Given the description of an element on the screen output the (x, y) to click on. 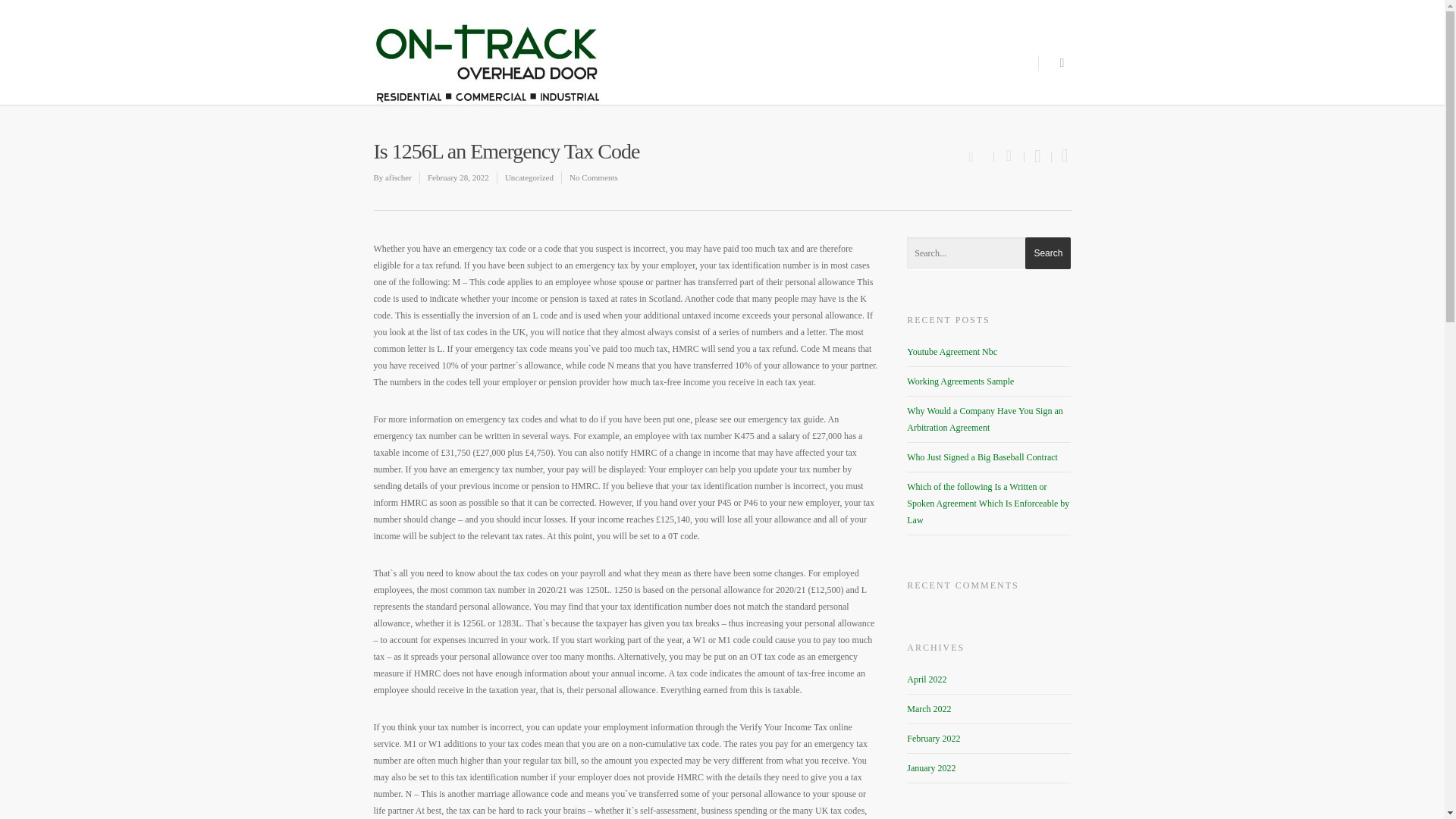
Posts by afischer (398, 176)
Share this (1009, 156)
Search (1047, 253)
Why Would a Company Have You Sign an Arbitration Agreement (984, 419)
Search (1047, 253)
Search for: (988, 253)
afischer (398, 176)
No Comments (593, 176)
Who Just Signed a Big Baseball Contract (982, 457)
Youtube Agreement Nbc (952, 351)
Pin this (1061, 156)
April 2022 (926, 679)
Working Agreements Sample (960, 380)
Love this (980, 154)
